Given the description of an element on the screen output the (x, y) to click on. 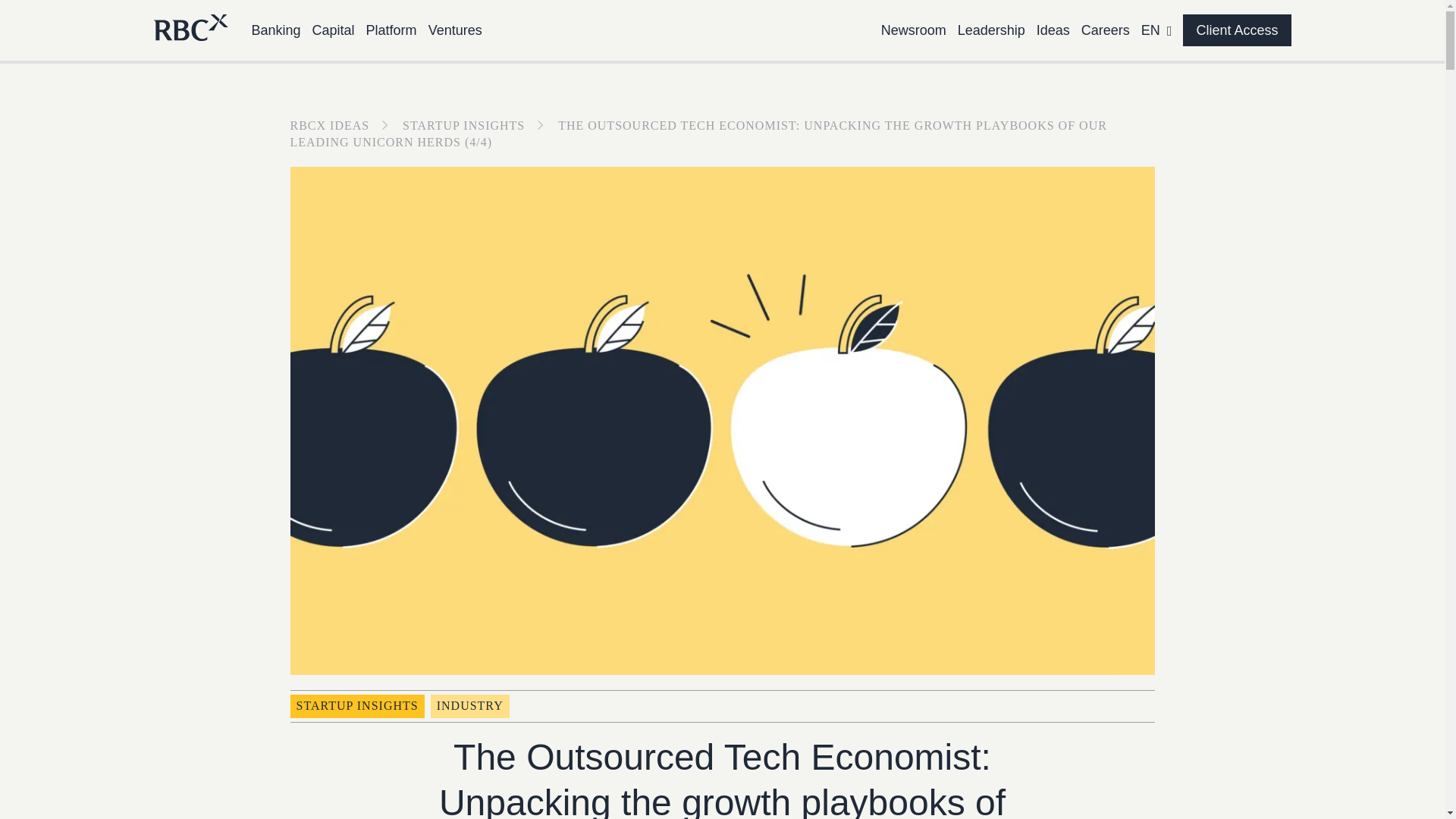
Banking (276, 29)
RBCX IDEAS (343, 124)
Client Access (1236, 29)
Ventures (454, 29)
Capital (334, 29)
Careers (1105, 29)
INDUSTRY (469, 705)
STARTUP INSIGHTS (356, 705)
Platform (391, 29)
Ideas (1053, 29)
EN (1156, 29)
Newsroom (913, 29)
Leadership (991, 29)
STARTUP INSIGHTS (478, 124)
